Given the description of an element on the screen output the (x, y) to click on. 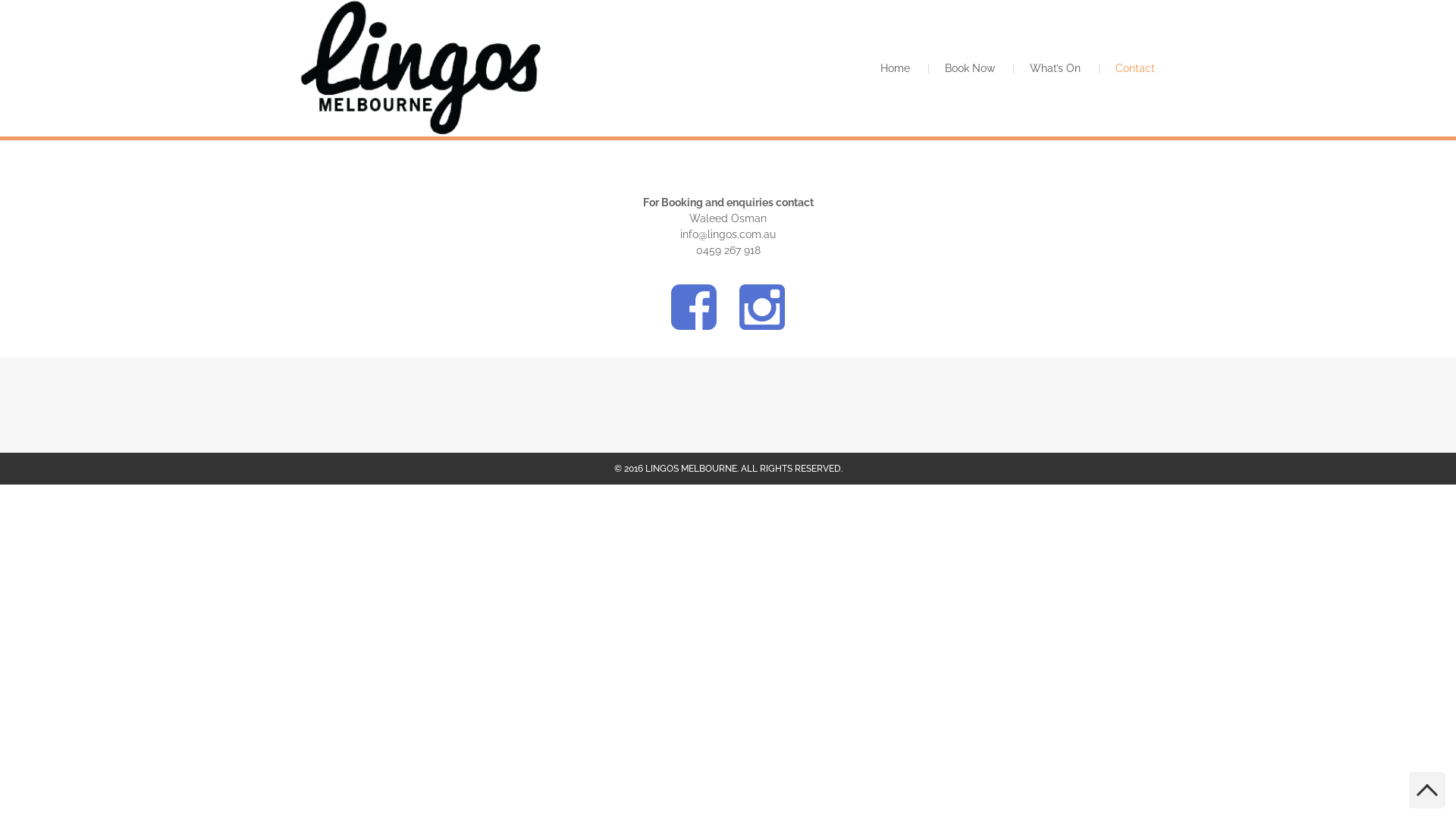
Search Element type: text (25, 11)
Contact Element type: text (1134, 67)
Skip to content Element type: text (0, 0)
Home Element type: text (894, 67)
Book Now Element type: text (969, 67)
